Given the description of an element on the screen output the (x, y) to click on. 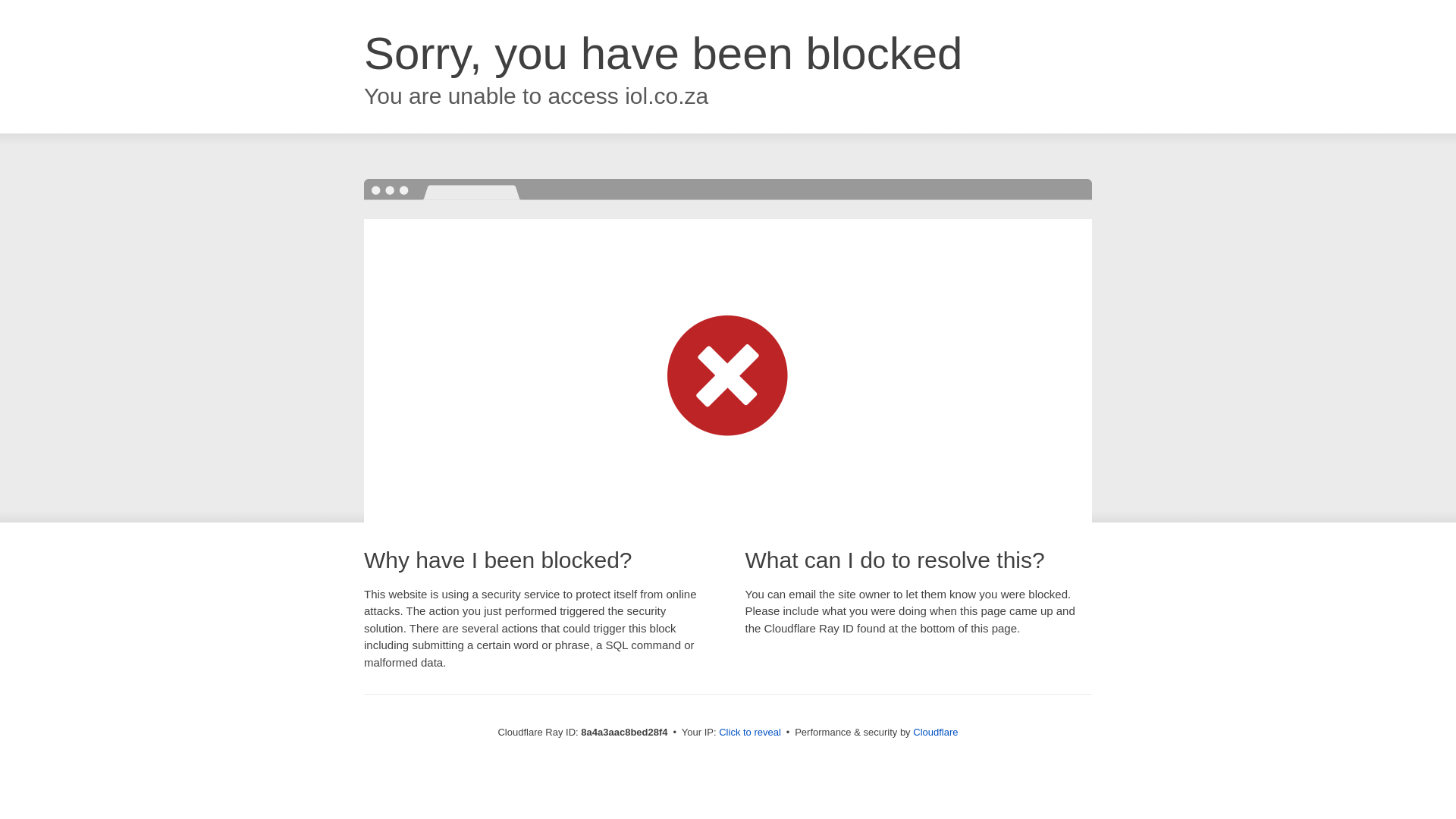
Click to reveal (749, 732)
Cloudflare (935, 731)
